Given the description of an element on the screen output the (x, y) to click on. 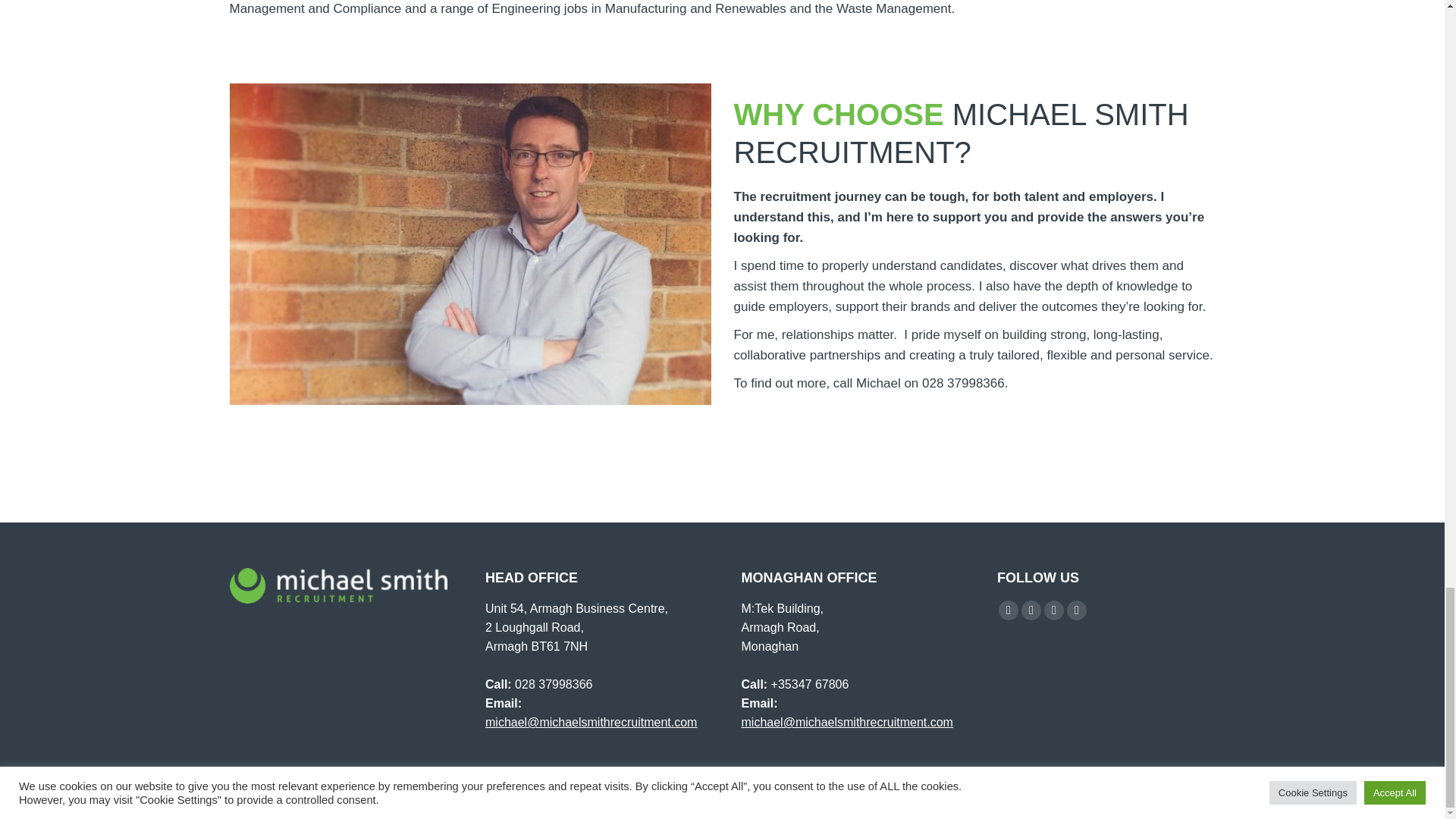
Linkedin page opens in new window (1053, 609)
X page opens in new window (1031, 609)
X page opens in new window (1031, 609)
Facebook page opens in new window (1007, 609)
Linkedin page opens in new window (1053, 609)
Instagram page opens in new window (1076, 609)
Facebook page opens in new window (1007, 609)
Home (920, 796)
Instagram page opens in new window (1076, 609)
